Given the description of an element on the screen output the (x, y) to click on. 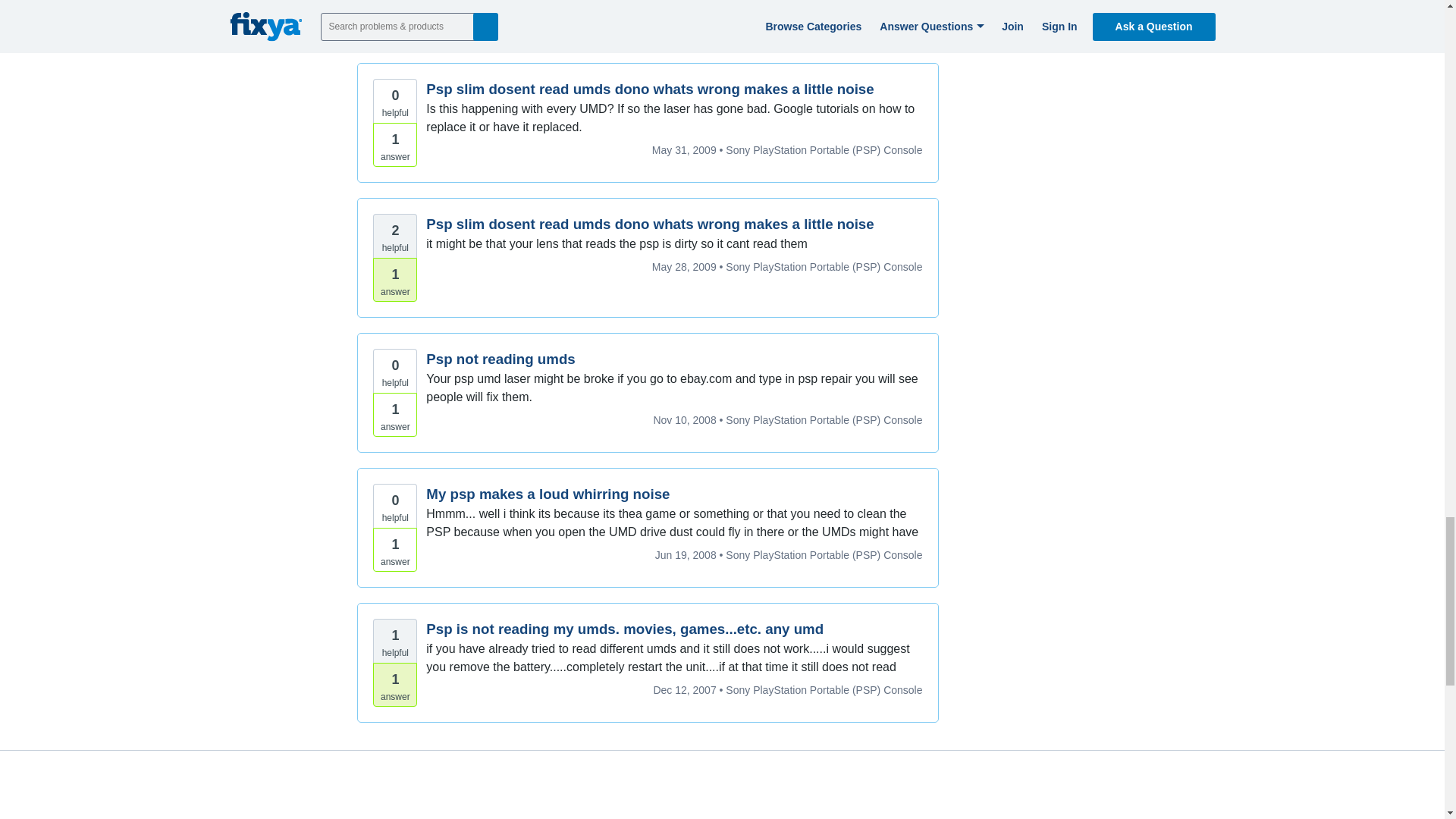
Ask (888, 816)
